Given the description of an element on the screen output the (x, y) to click on. 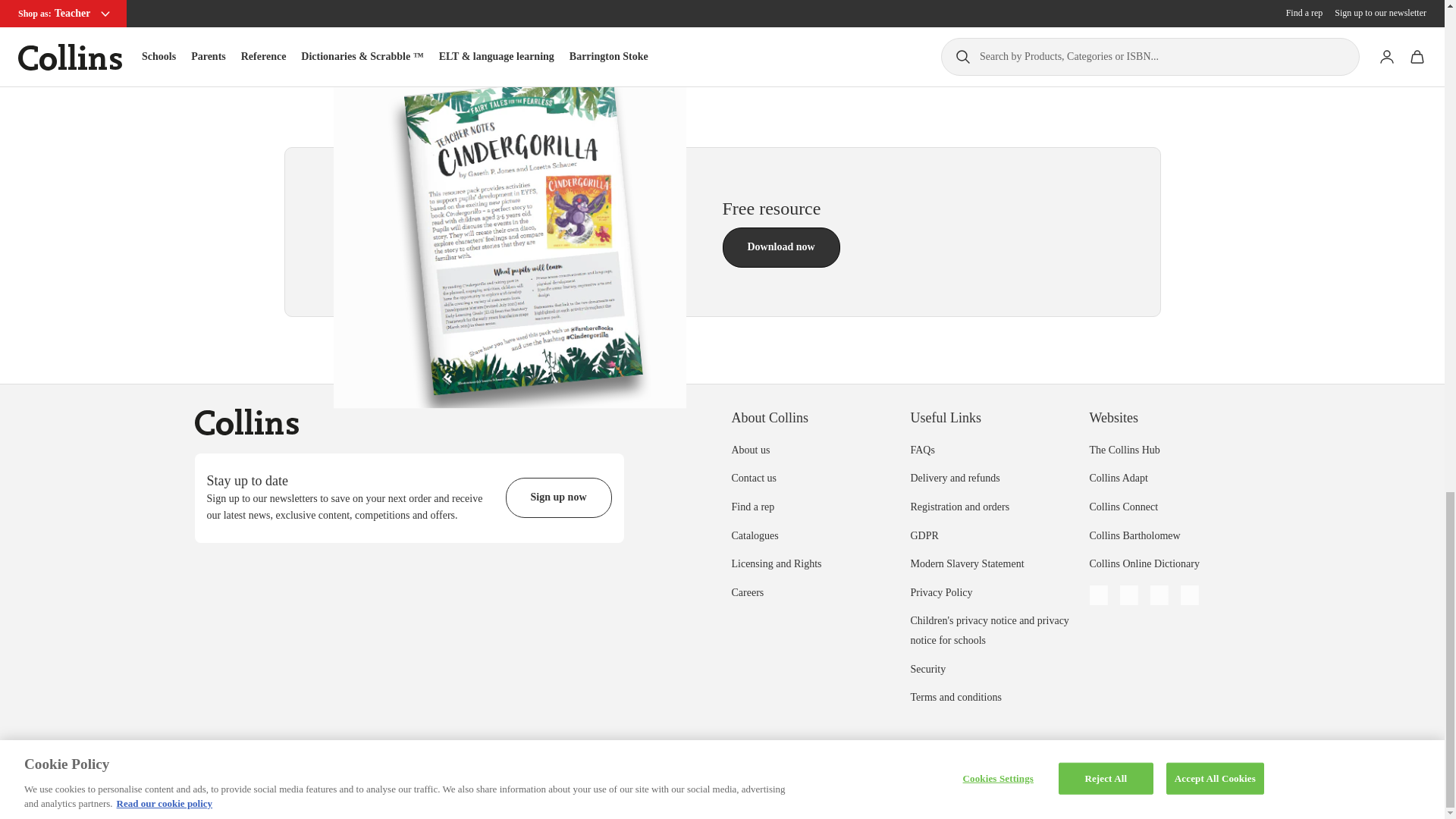
Find a rep (752, 506)
About us (750, 449)
Catalogues (753, 535)
Sign up now (558, 496)
Download now (781, 246)
Contact us (753, 478)
